Given the description of an element on the screen output the (x, y) to click on. 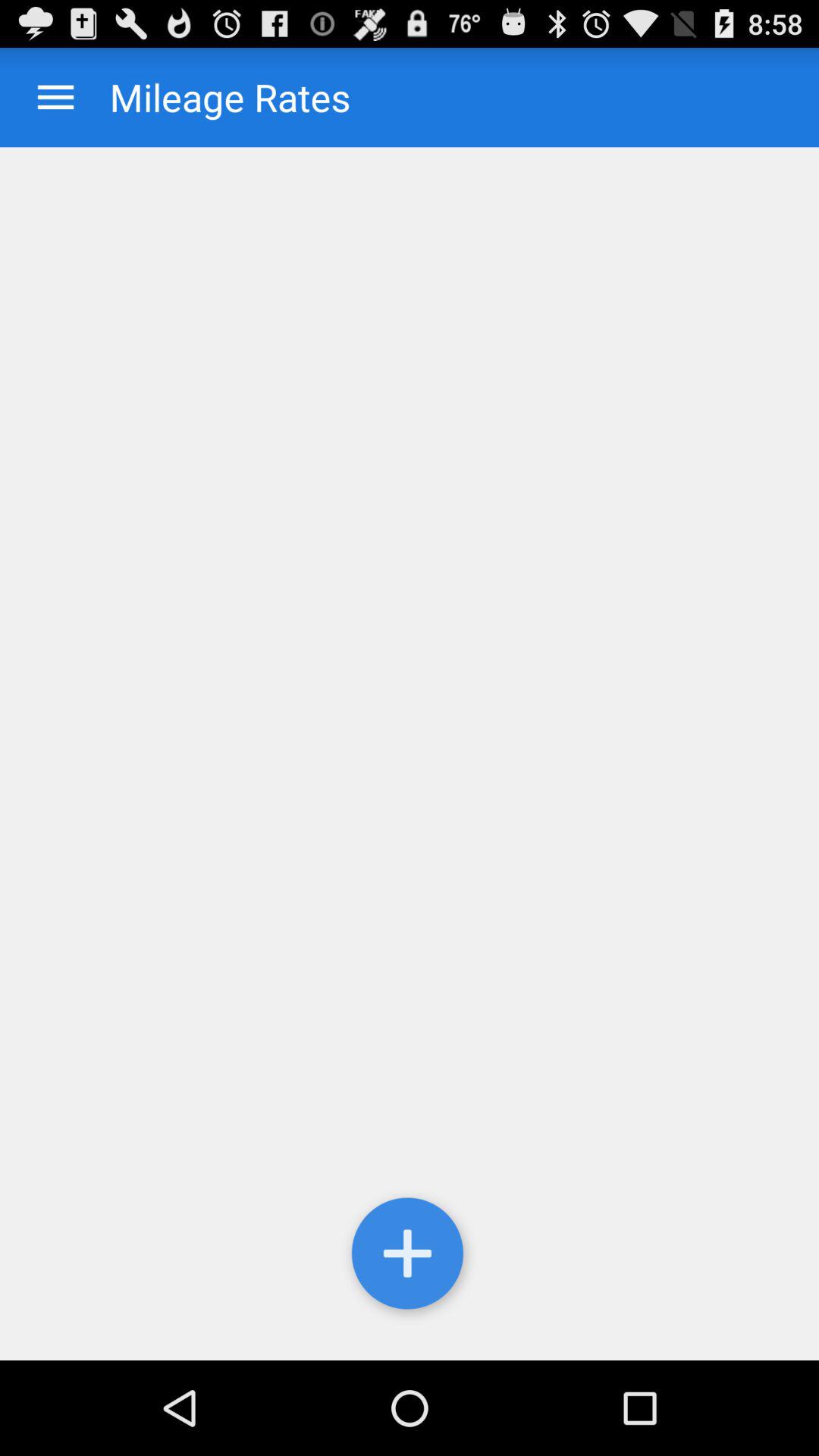
go back (55, 97)
